Given the description of an element on the screen output the (x, y) to click on. 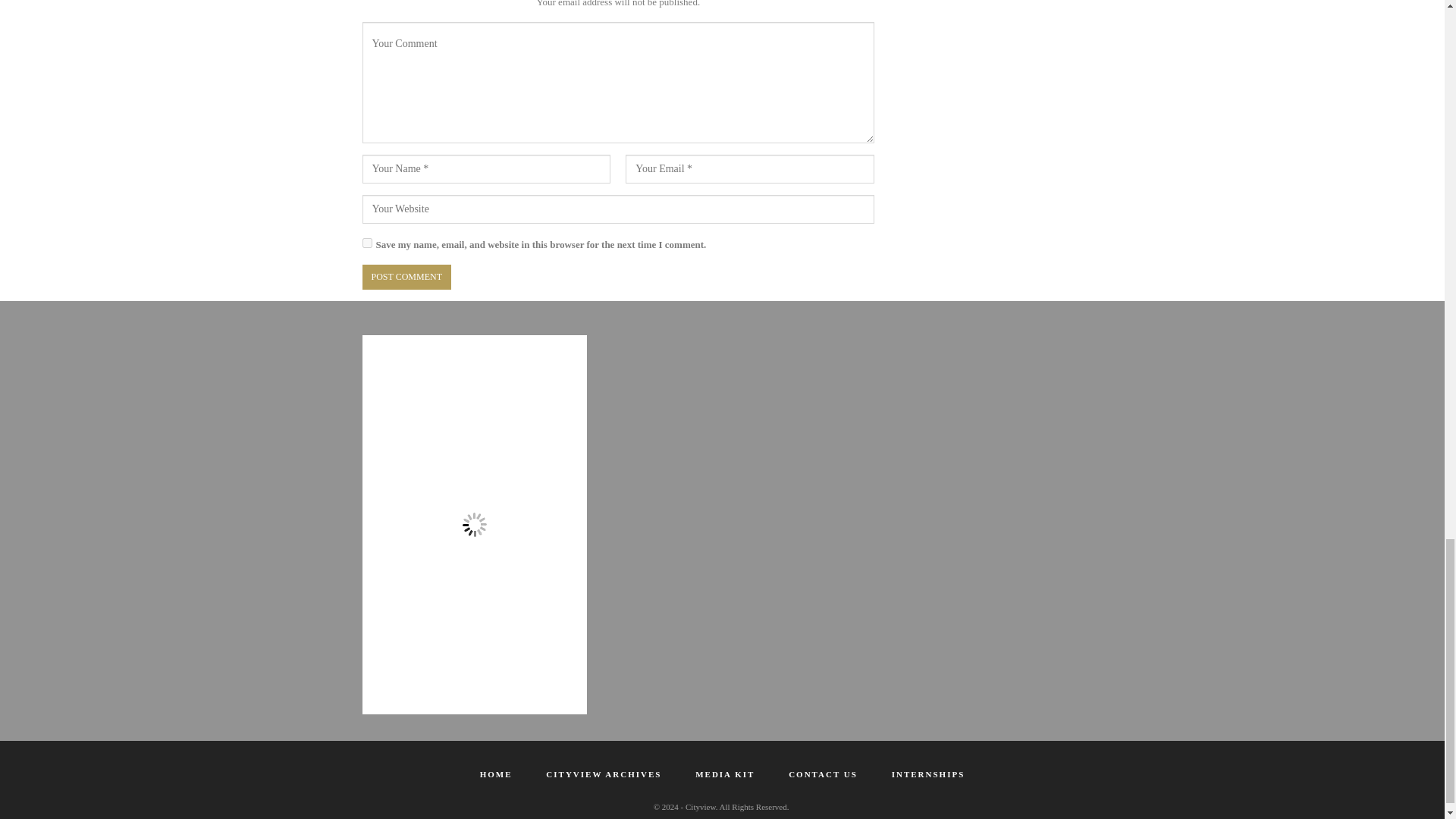
yes (367, 243)
Post Comment (406, 276)
